Given the description of an element on the screen output the (x, y) to click on. 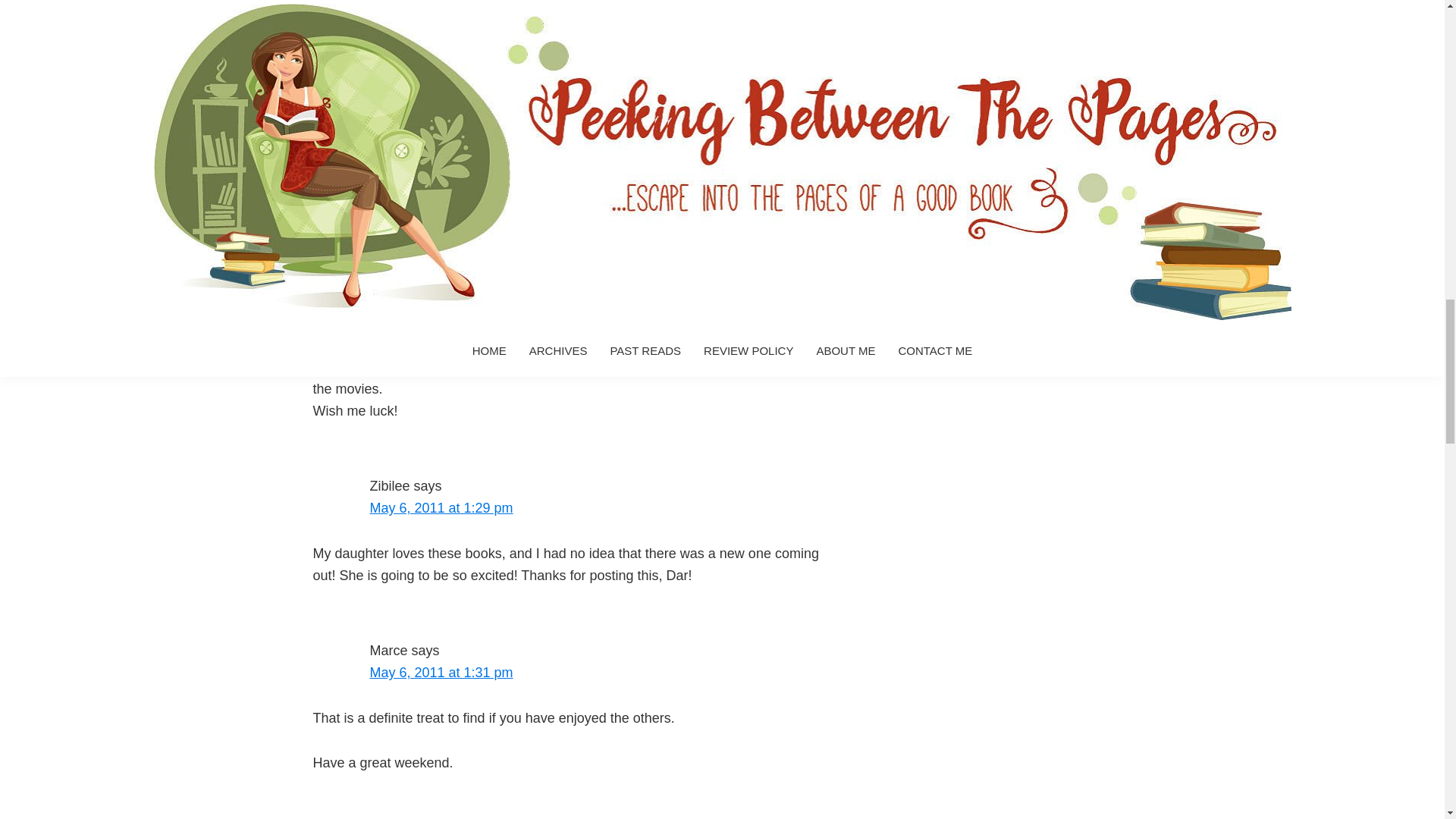
Friday Finds (414, 143)
May 6, 2011 at 1:29 pm (441, 507)
May 6, 2011 at 1:31 pm (441, 672)
May 6, 2011 at 10:08 am (445, 299)
